Given the description of an element on the screen output the (x, y) to click on. 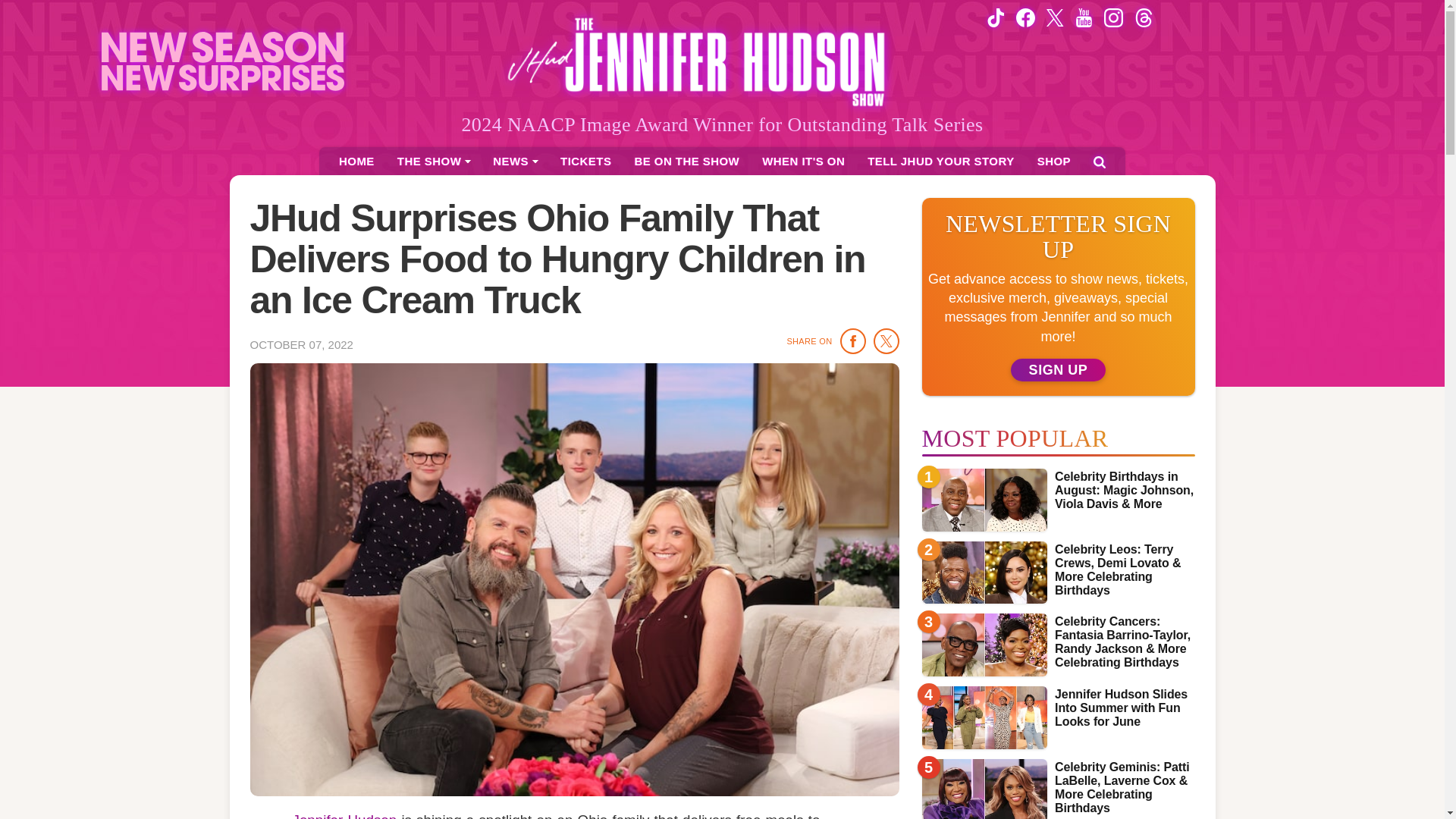
Instagram (1112, 17)
SEARCH (1098, 161)
Jennifer Hudson (344, 815)
Instagram (1112, 17)
SHOP (1053, 161)
Twitter (1055, 17)
TikTok (995, 17)
Threads (1143, 17)
YouTube (1084, 17)
BE ON THE SHOW (687, 161)
